Given the description of an element on the screen output the (x, y) to click on. 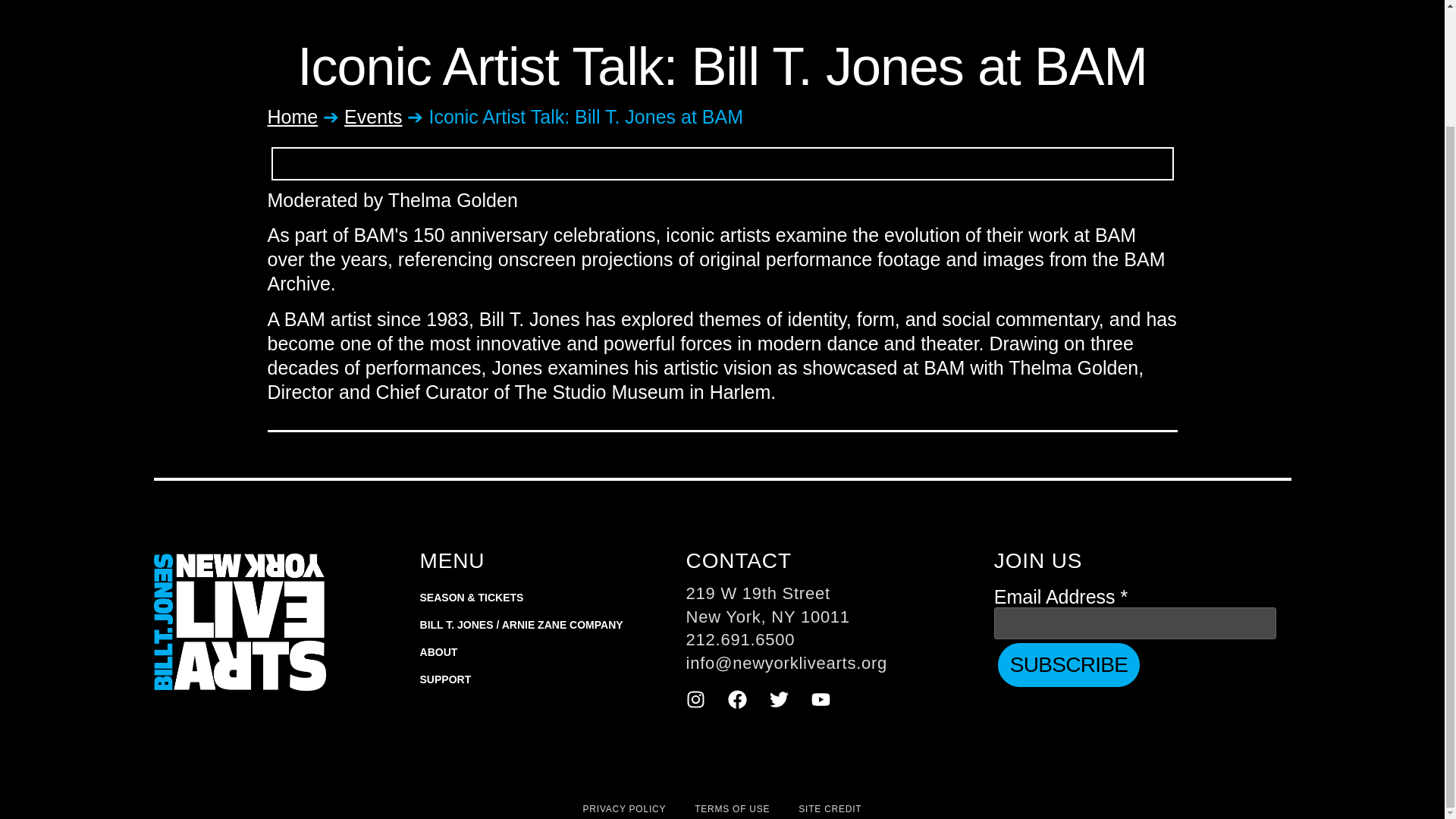
Subscribe (1068, 664)
